Given the description of an element on the screen output the (x, y) to click on. 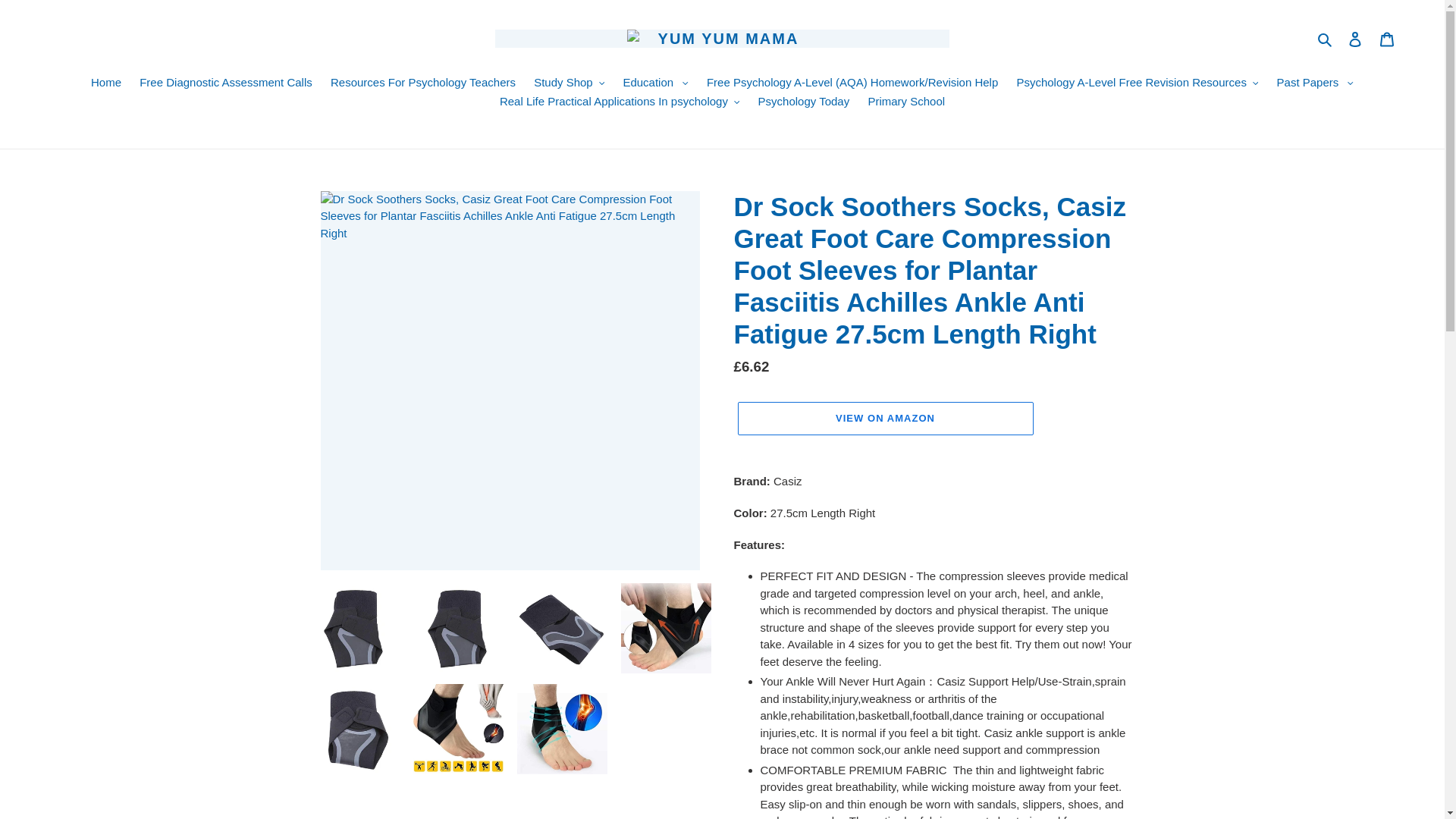
Cart (1387, 38)
Log in (1355, 38)
Search (1326, 38)
